Given the description of an element on the screen output the (x, y) to click on. 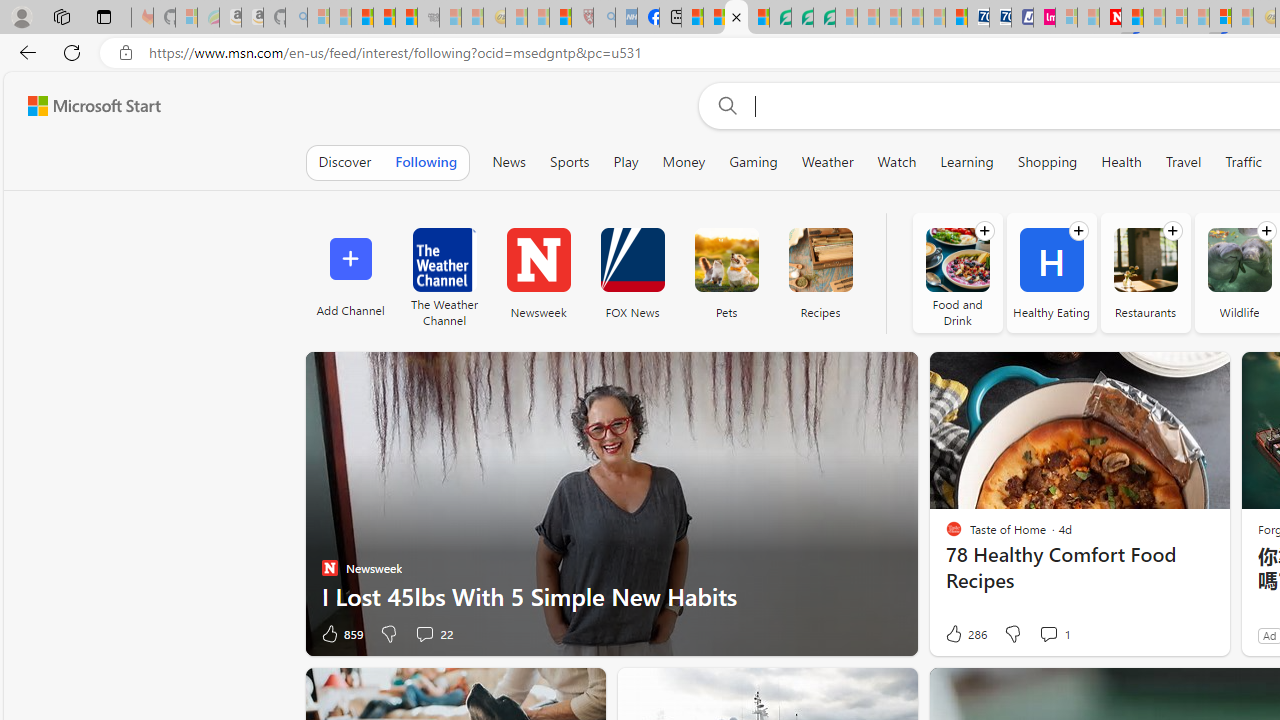
286 Like (964, 633)
Newsweek (537, 260)
LendingTree - Compare Lenders (780, 17)
Microsoft Word - consumer-privacy address update 2.2021 (824, 17)
